Given the description of an element on the screen output the (x, y) to click on. 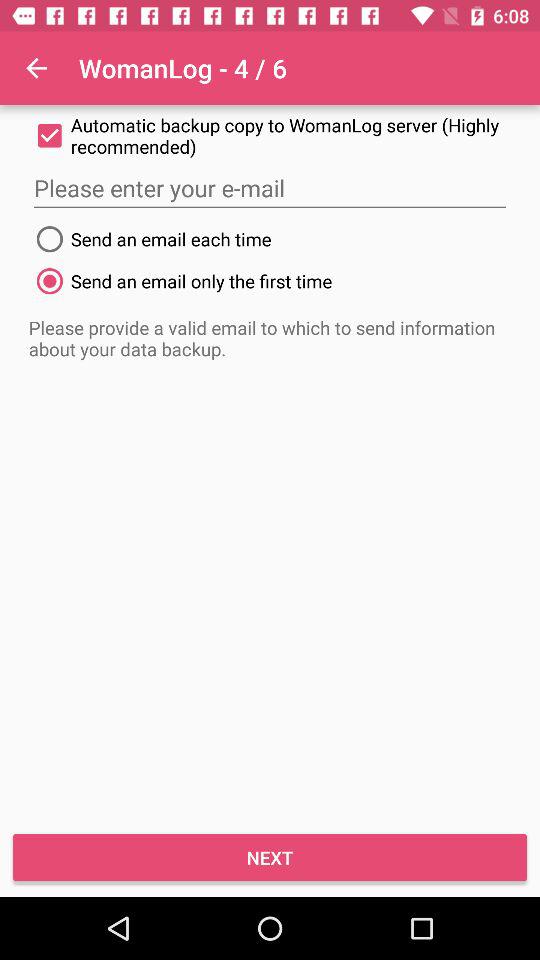
swipe to the automatic backup copy icon (269, 135)
